Given the description of an element on the screen output the (x, y) to click on. 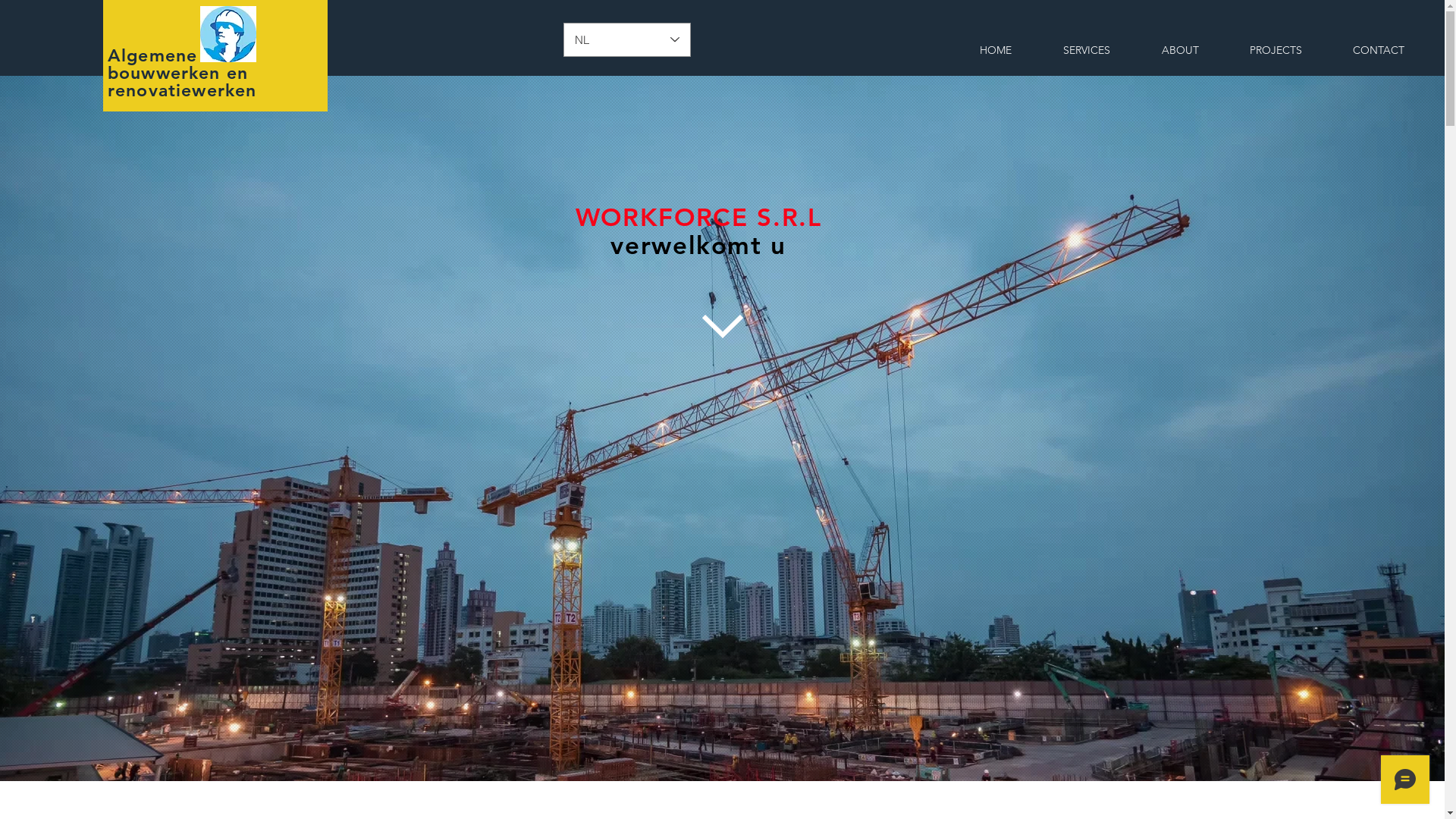
ABOUT Element type: text (1179, 50)
SERVICES Element type: text (1086, 50)
PROJECTS Element type: text (1275, 50)
HOME Element type: text (995, 50)
Algemene bouwwerken en renovatiewerken Element type: text (181, 72)
Embedded Content Element type: hover (722, 203)
CONTACT Element type: text (1378, 50)
